Given the description of an element on the screen output the (x, y) to click on. 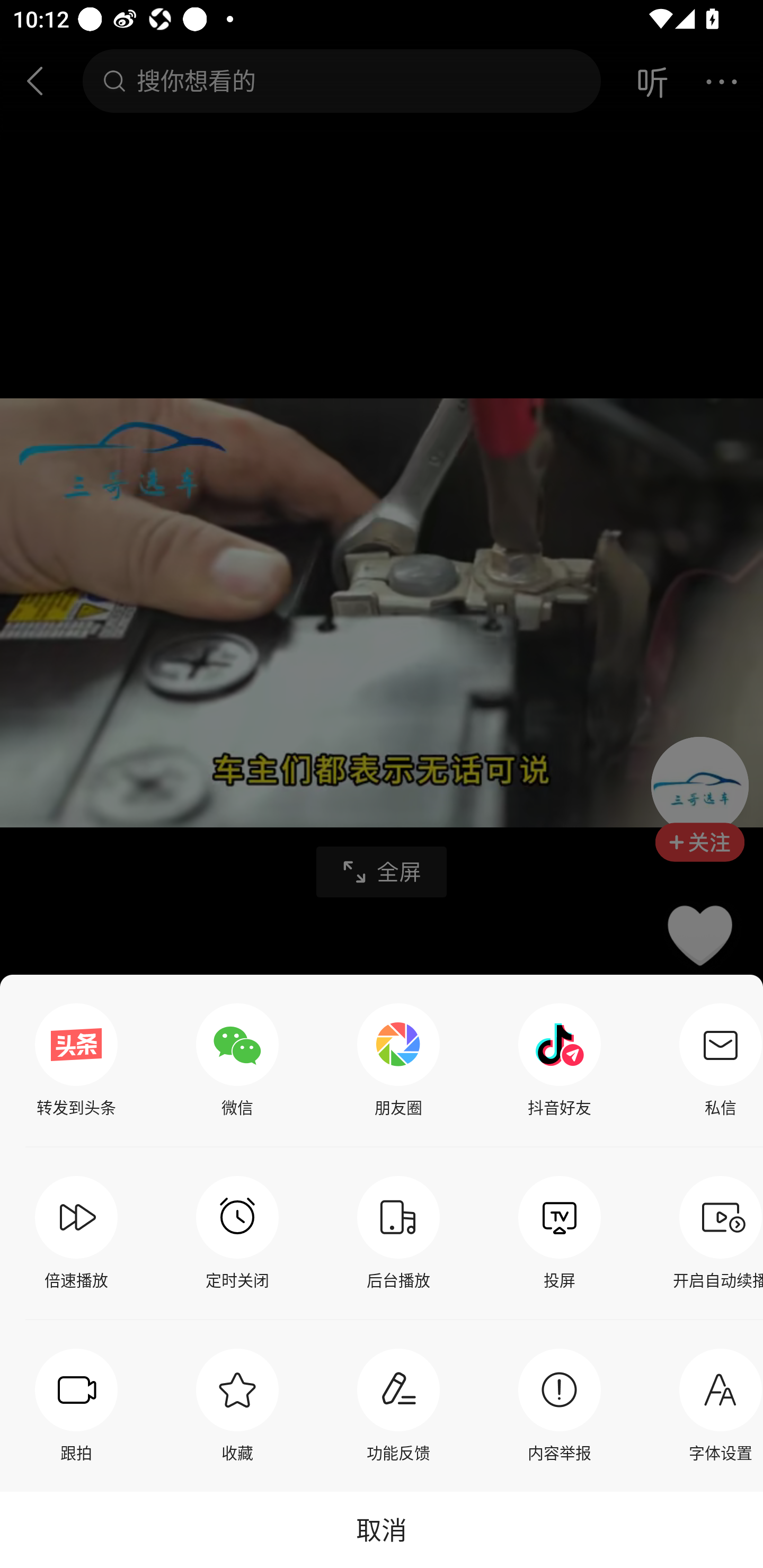
转发到头条 (76, 1060)
微信 (237, 1060)
朋友圈 (398, 1060)
抖音好友 (559, 1060)
私信 (716, 1060)
倍速播放 (76, 1232)
定时关闭 (237, 1232)
后台播放 (398, 1232)
投屏 (559, 1232)
开启自动续播 (716, 1232)
跟拍 (76, 1405)
收藏 (237, 1405)
功能反馈 (398, 1405)
内容举报 (559, 1405)
字体设置 (716, 1405)
取消 (381, 1529)
